Given the description of an element on the screen output the (x, y) to click on. 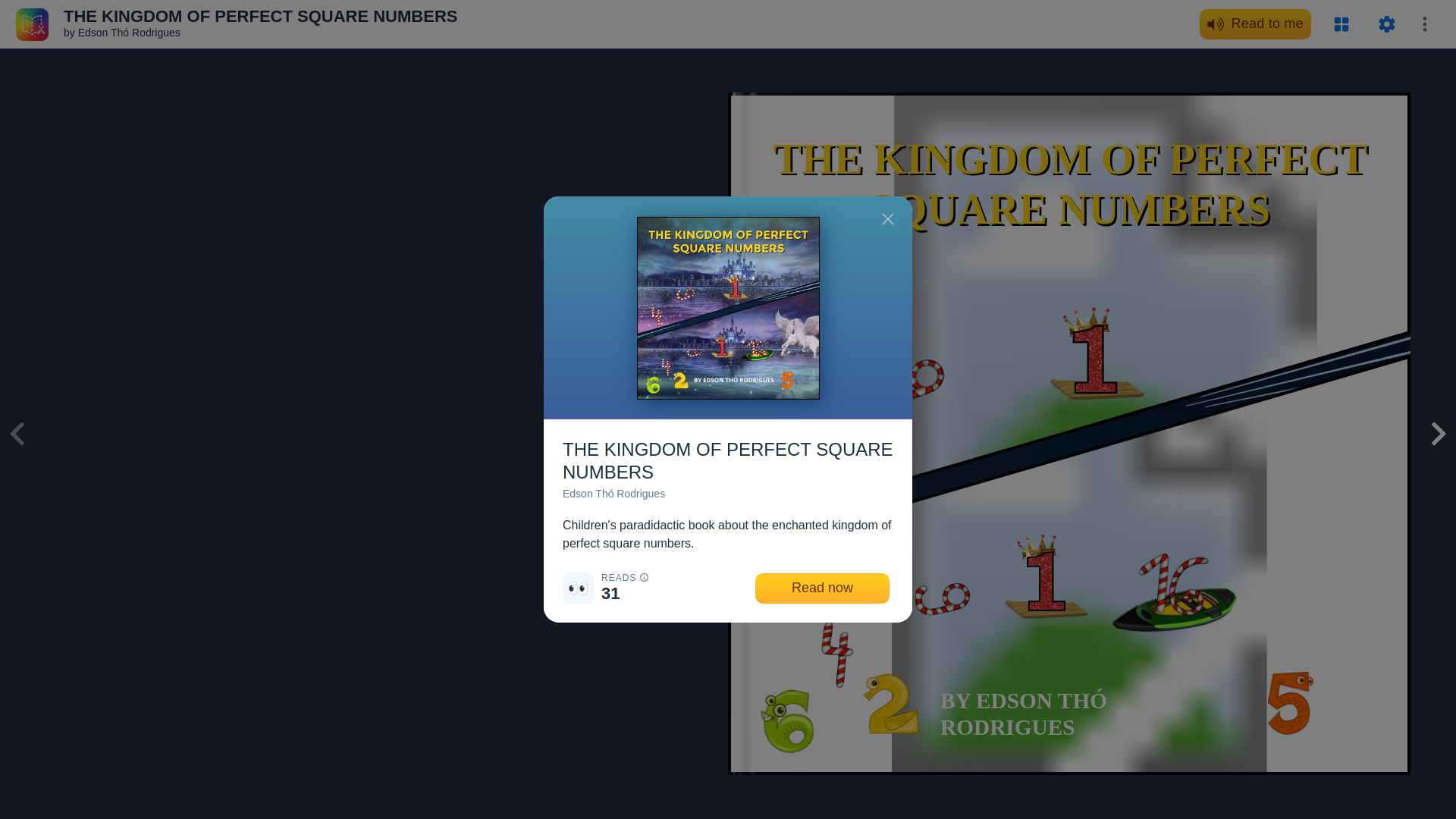
Read to me (1255, 24)
Read now (822, 588)
Menu (1424, 24)
Pages (1341, 24)
Book Creator (32, 23)
Settings (1386, 24)
Go to Book Creator website (32, 23)
